Given the description of an element on the screen output the (x, y) to click on. 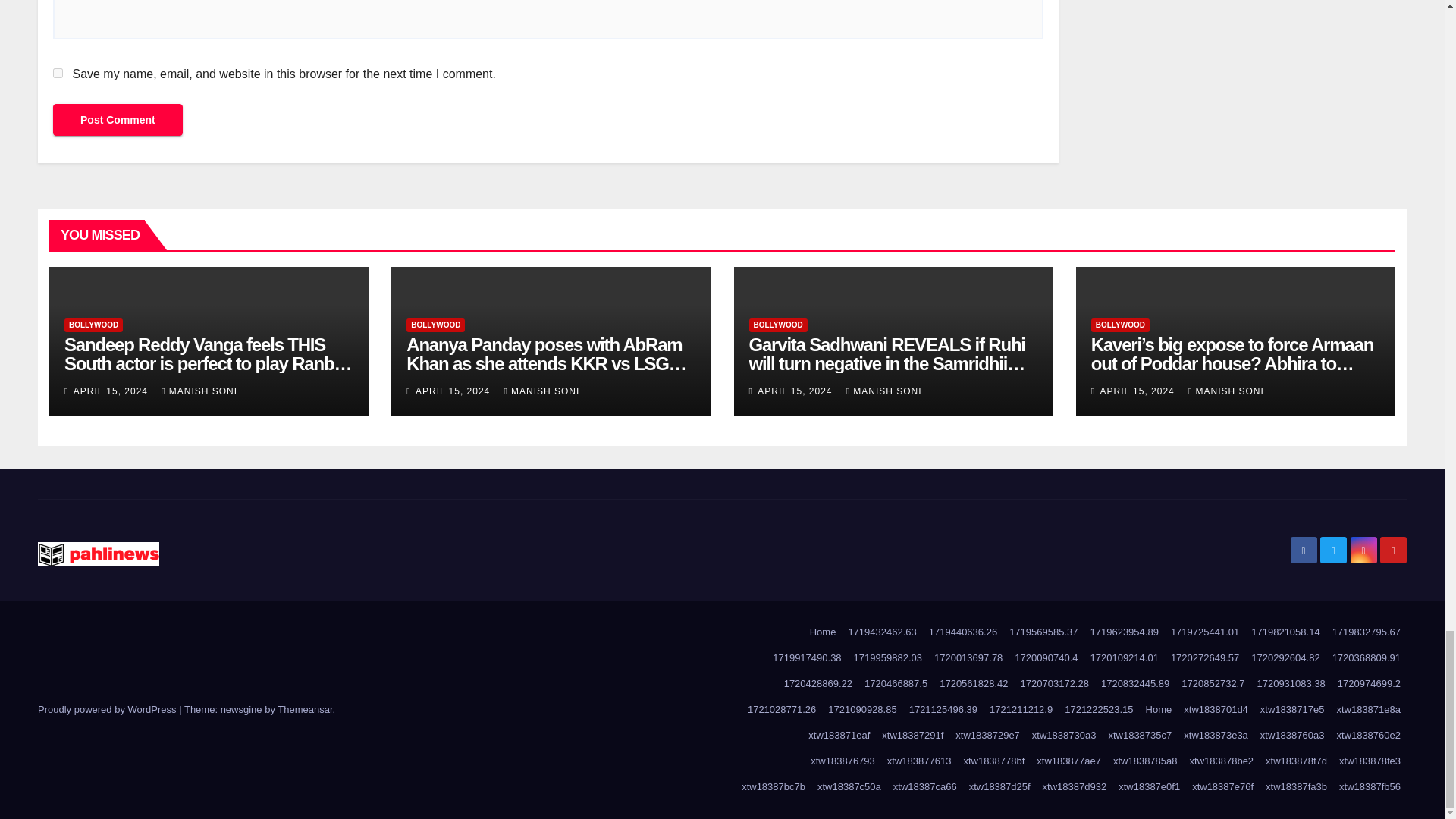
yes (57, 72)
Post Comment (117, 119)
